Given the description of an element on the screen output the (x, y) to click on. 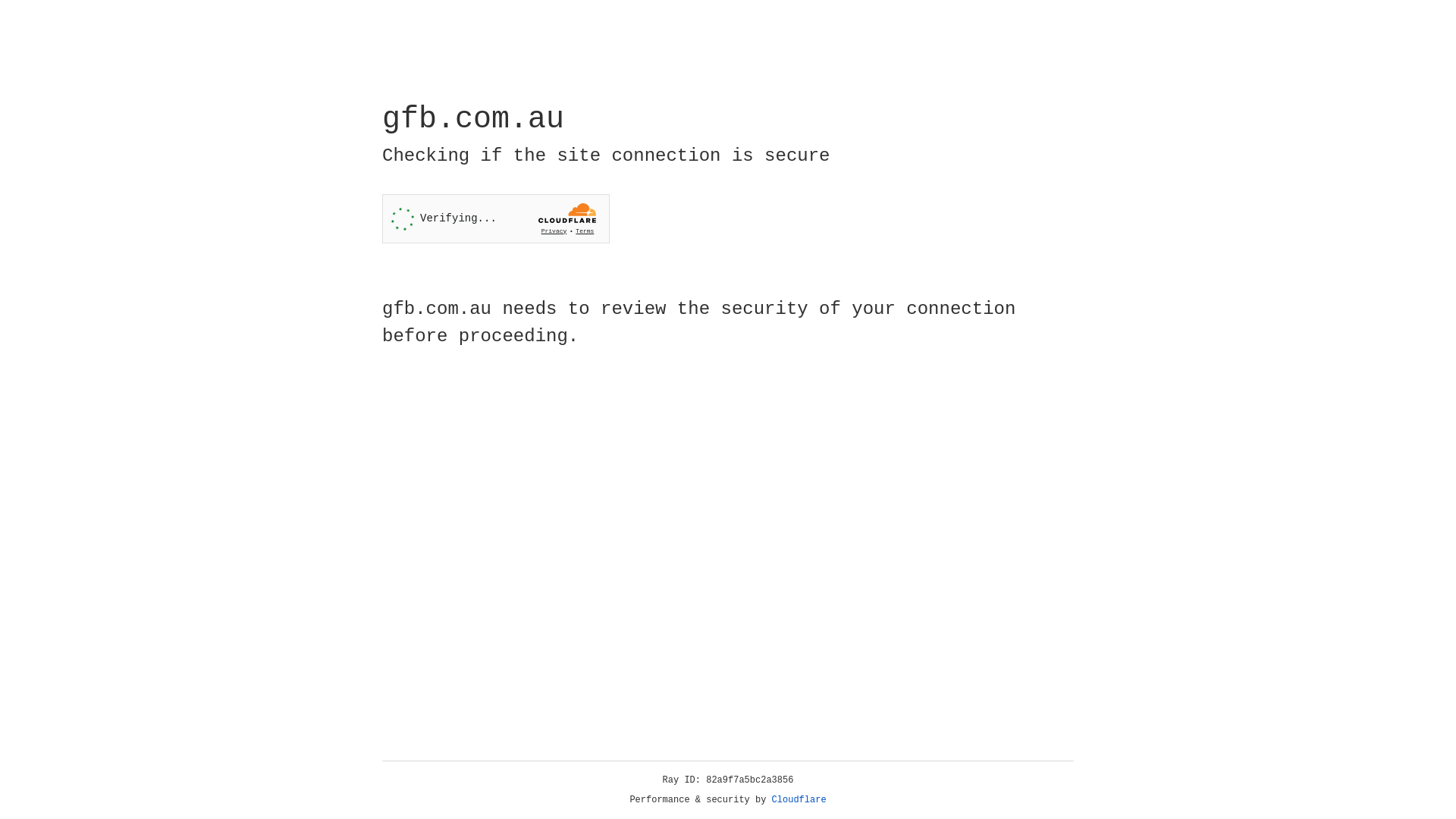
Cloudflare Element type: text (798, 799)
Widget containing a Cloudflare security challenge Element type: hover (495, 218)
